Given the description of an element on the screen output the (x, y) to click on. 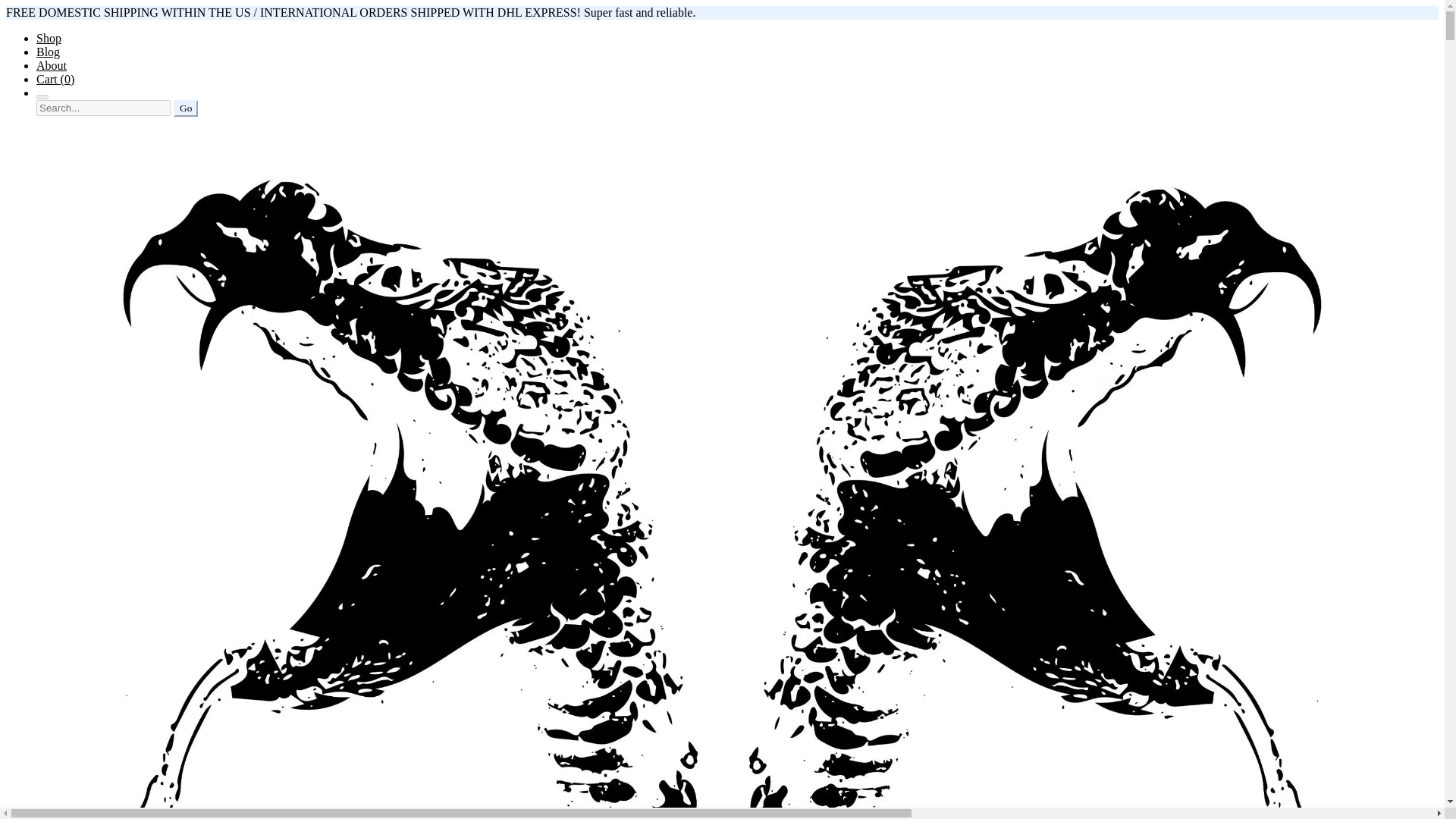
Shop (48, 38)
Go (185, 108)
Blog (47, 51)
About (51, 65)
Go (185, 108)
